Given the description of an element on the screen output the (x, y) to click on. 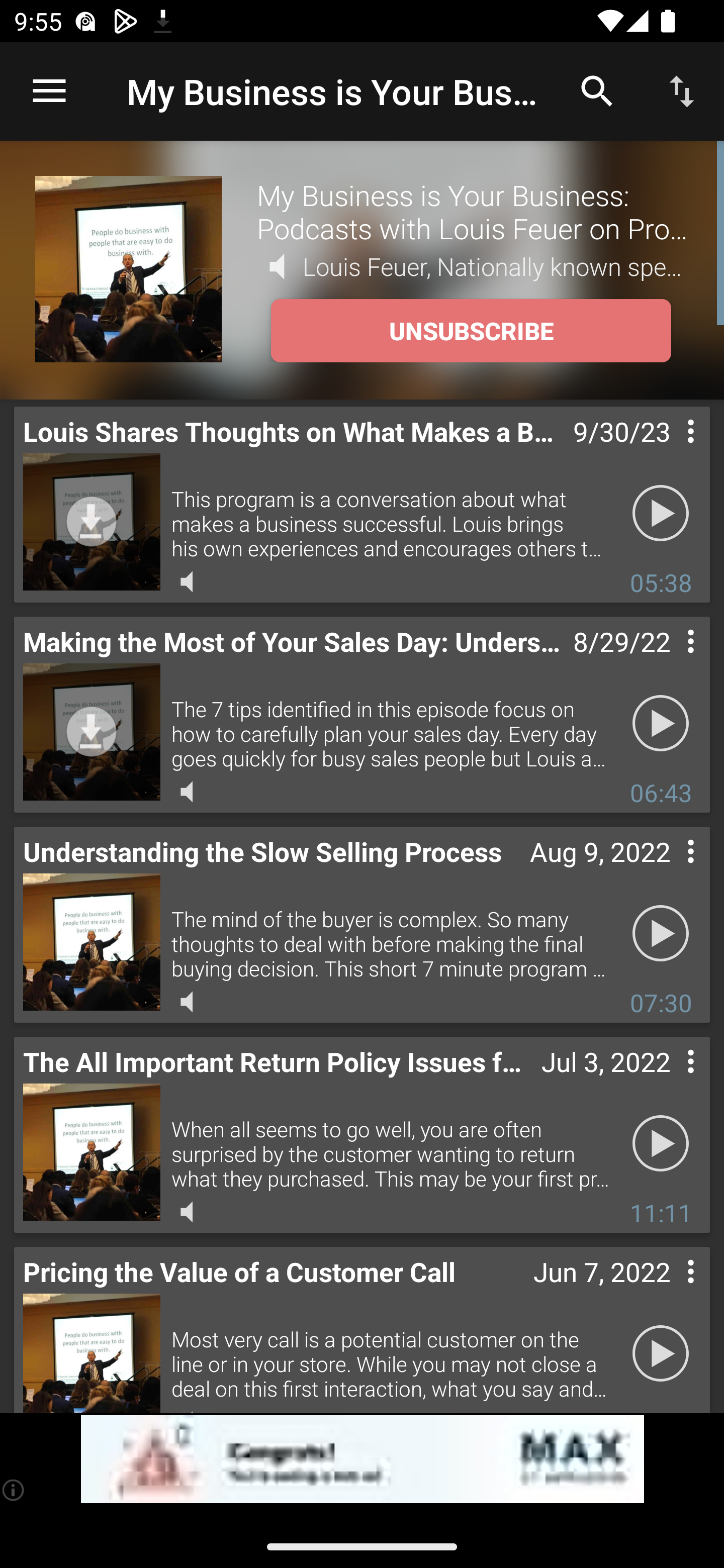
Open navigation sidebar (49, 91)
Search (597, 90)
Sort (681, 90)
UNSUBSCRIBE (470, 330)
Contextual menu (668, 451)
Play (660, 513)
Contextual menu (668, 661)
Play (660, 723)
Contextual menu (668, 870)
Play (660, 933)
Contextual menu (668, 1080)
Play (660, 1143)
Contextual menu (668, 1290)
Play (660, 1353)
app-monetization (362, 1459)
(i) (14, 1489)
